Given the description of an element on the screen output the (x, y) to click on. 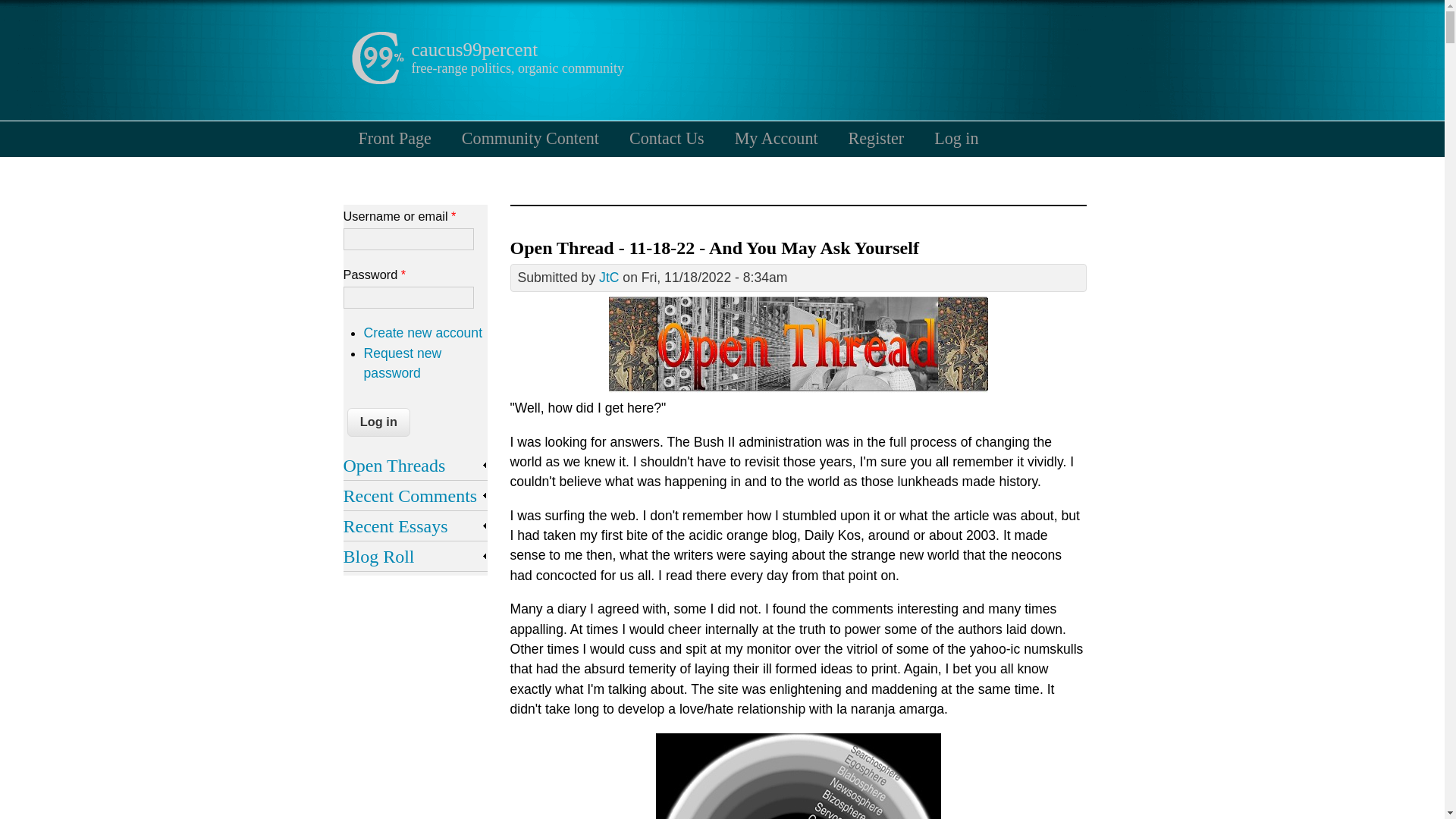
Home (473, 49)
Front Page Featured Editorials (393, 138)
Front Page (393, 138)
Log in (378, 421)
View user profile. (608, 277)
My Account (775, 138)
Register (876, 138)
Home (376, 79)
JtC (608, 277)
Contact the Administrator (666, 138)
